Given the description of an element on the screen output the (x, y) to click on. 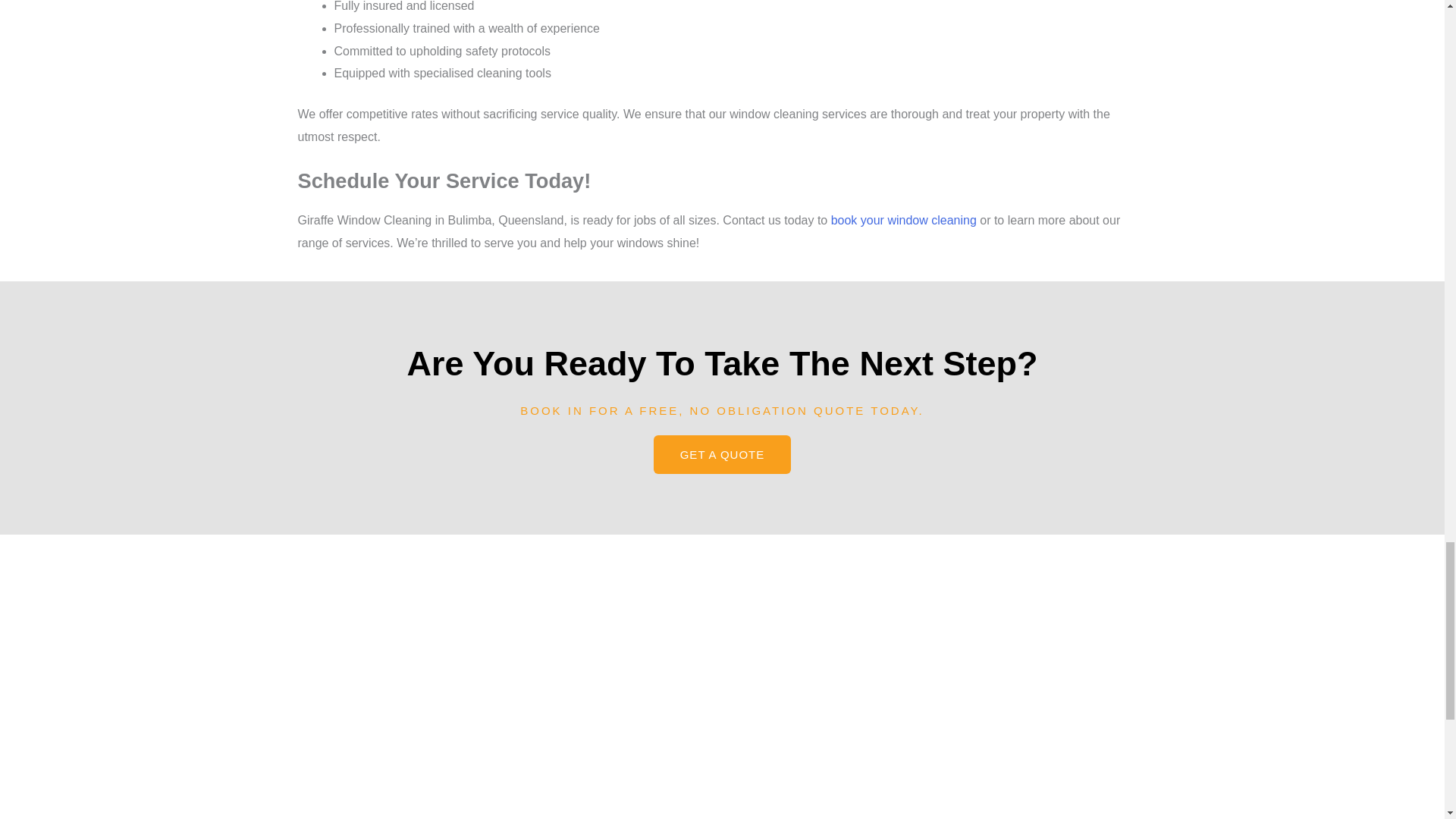
Bulimba qld (721, 697)
book your window cleaning (903, 219)
GET A QUOTE (722, 454)
